Given the description of an element on the screen output the (x, y) to click on. 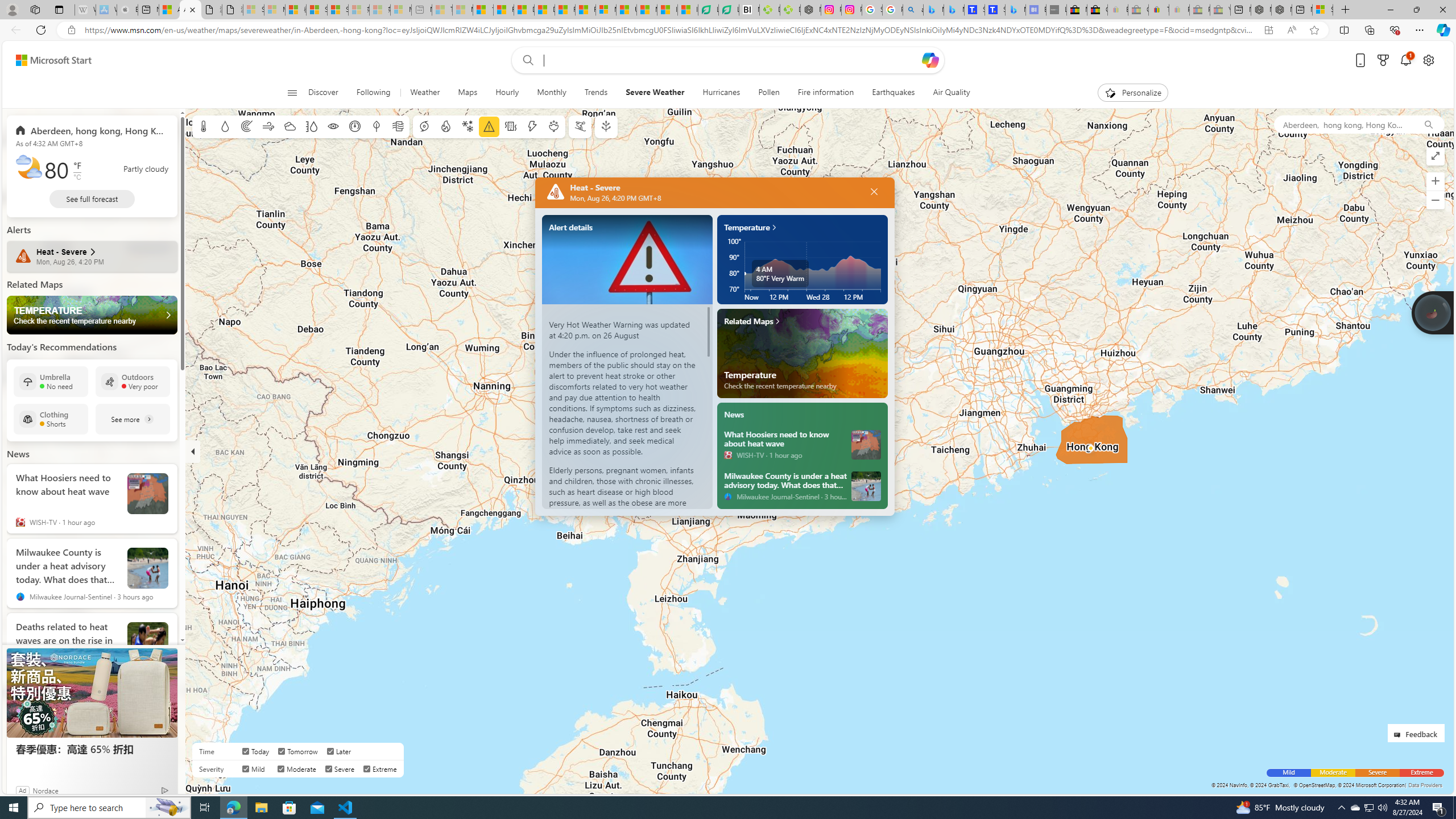
App available. Install Microsoft Start Weather (1268, 29)
Foo BAR | Trusted Community Engagement and Contributions (584, 9)
Shangri-La Bangkok, Hotel reviews and Room rates (994, 9)
Temperature (802, 352)
Food and Drink - MSN (503, 9)
Weather (424, 92)
Join us in planting real trees to help our planet! (1431, 311)
